Given the description of an element on the screen output the (x, y) to click on. 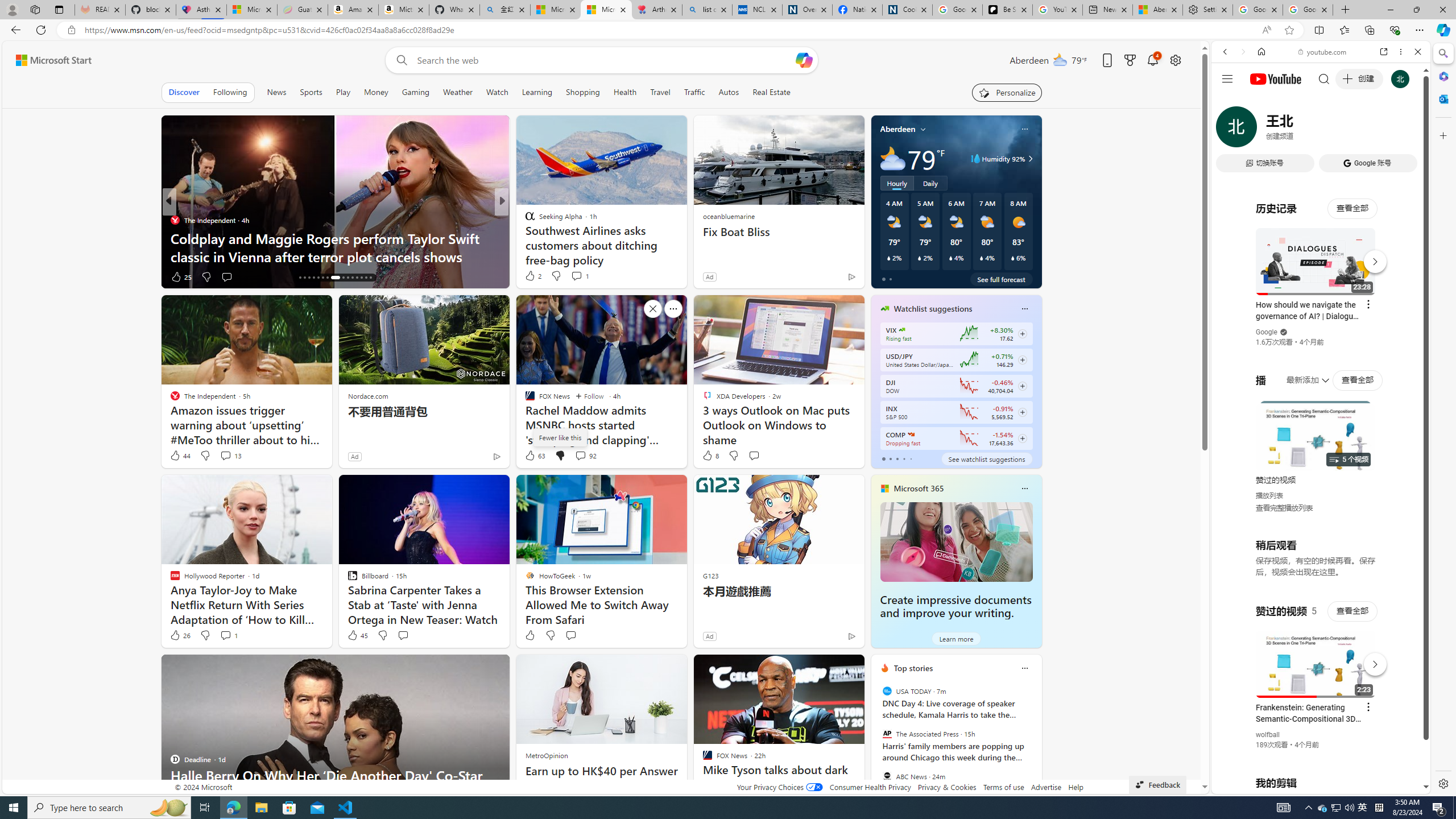
Arthritis: Ask Health Professionals (656, 9)
NCL Adult Asthma Inhaler Choice Guideline (757, 9)
Search videos from youtube.com (1299, 373)
Class: follow-button  m (1021, 438)
AutomationID: tab-16 (299, 277)
View comments 9 Comment (576, 276)
AutomationID: tab-29 (366, 277)
Class: icon-img (1024, 668)
Allrecipes (524, 219)
Enter your search term (603, 59)
